Given the description of an element on the screen output the (x, y) to click on. 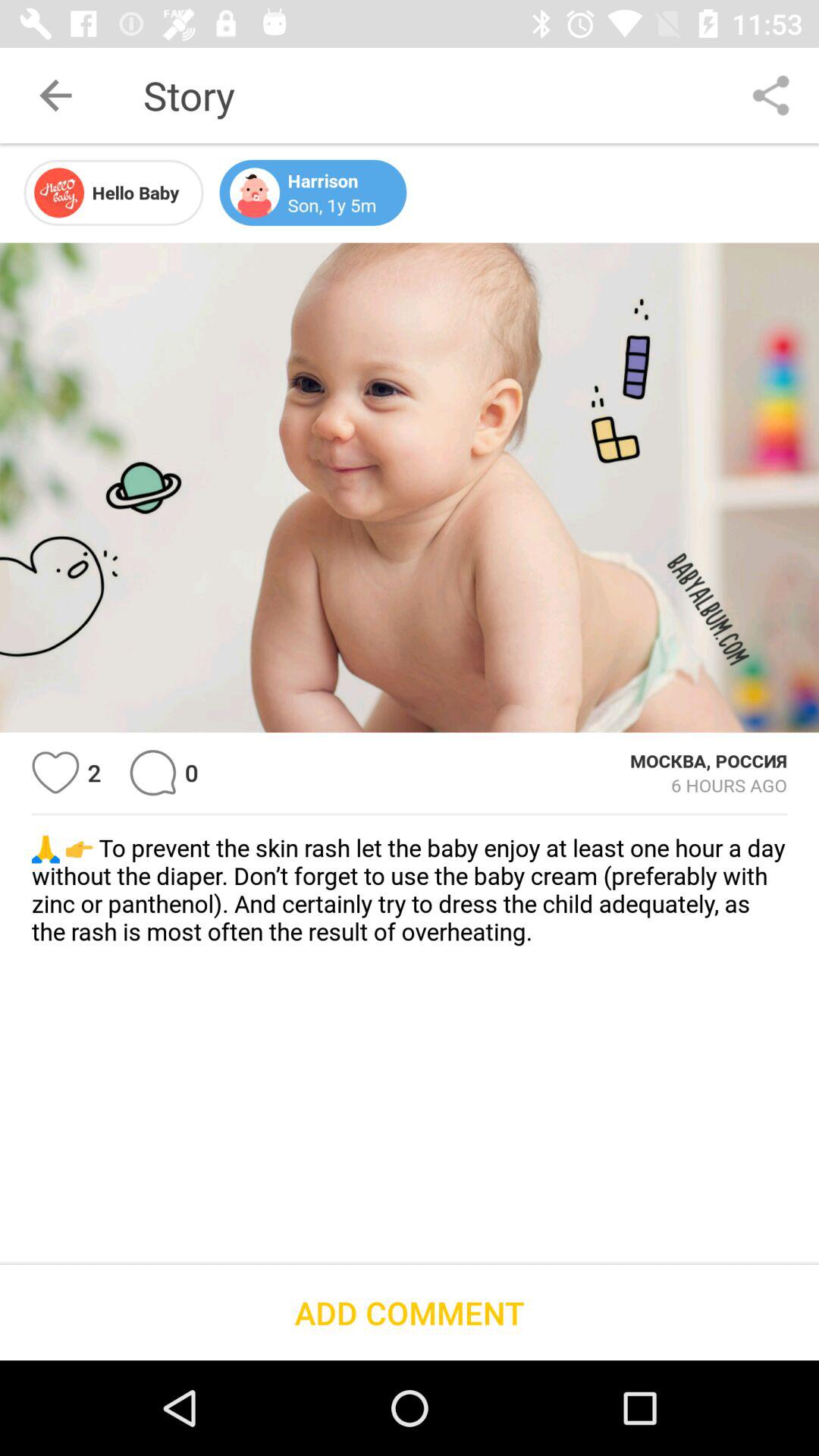
like the post (55, 772)
